Given the description of an element on the screen output the (x, y) to click on. 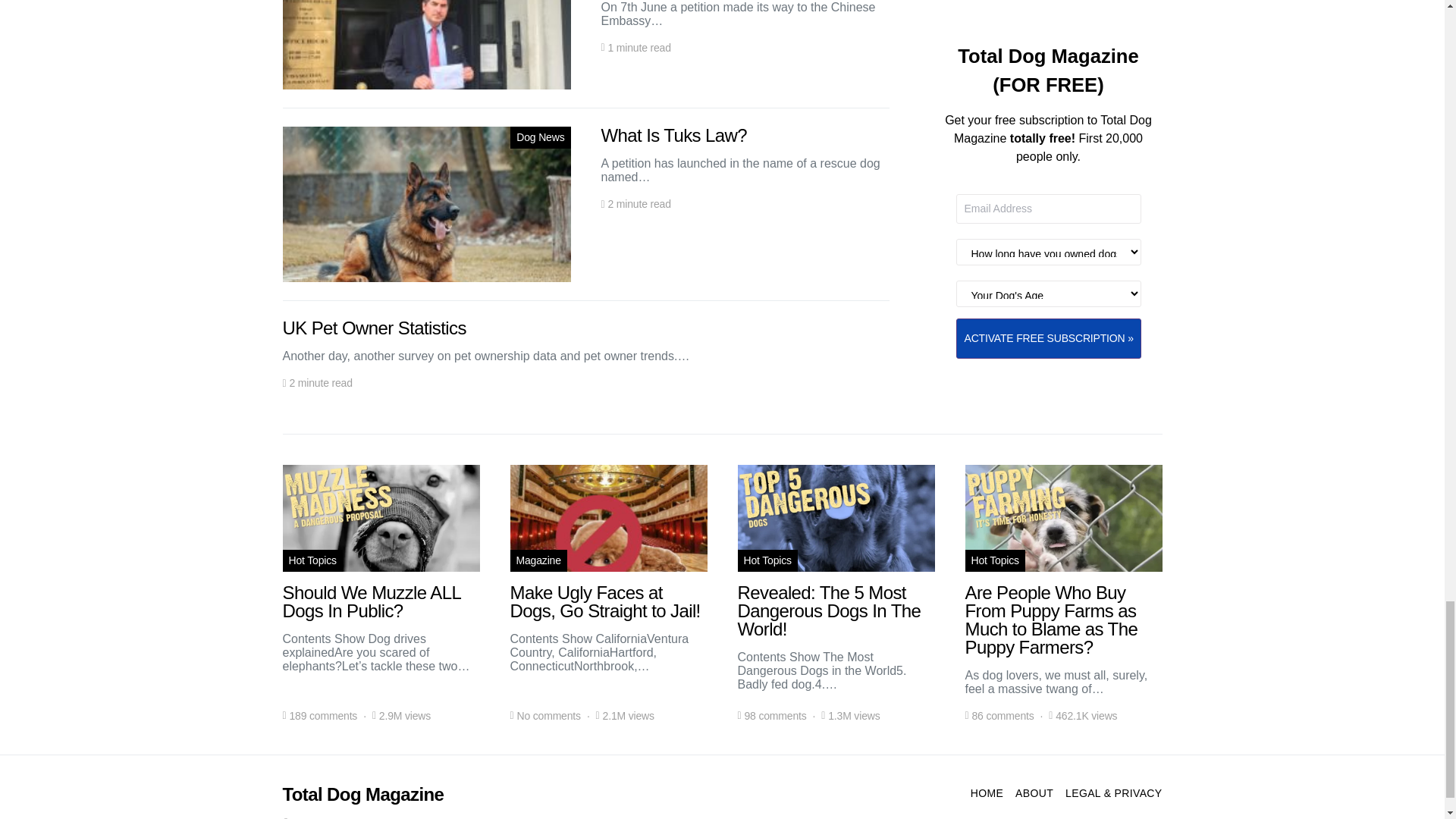
Dog News (540, 137)
Hot Topics (312, 560)
